Given the description of an element on the screen output the (x, y) to click on. 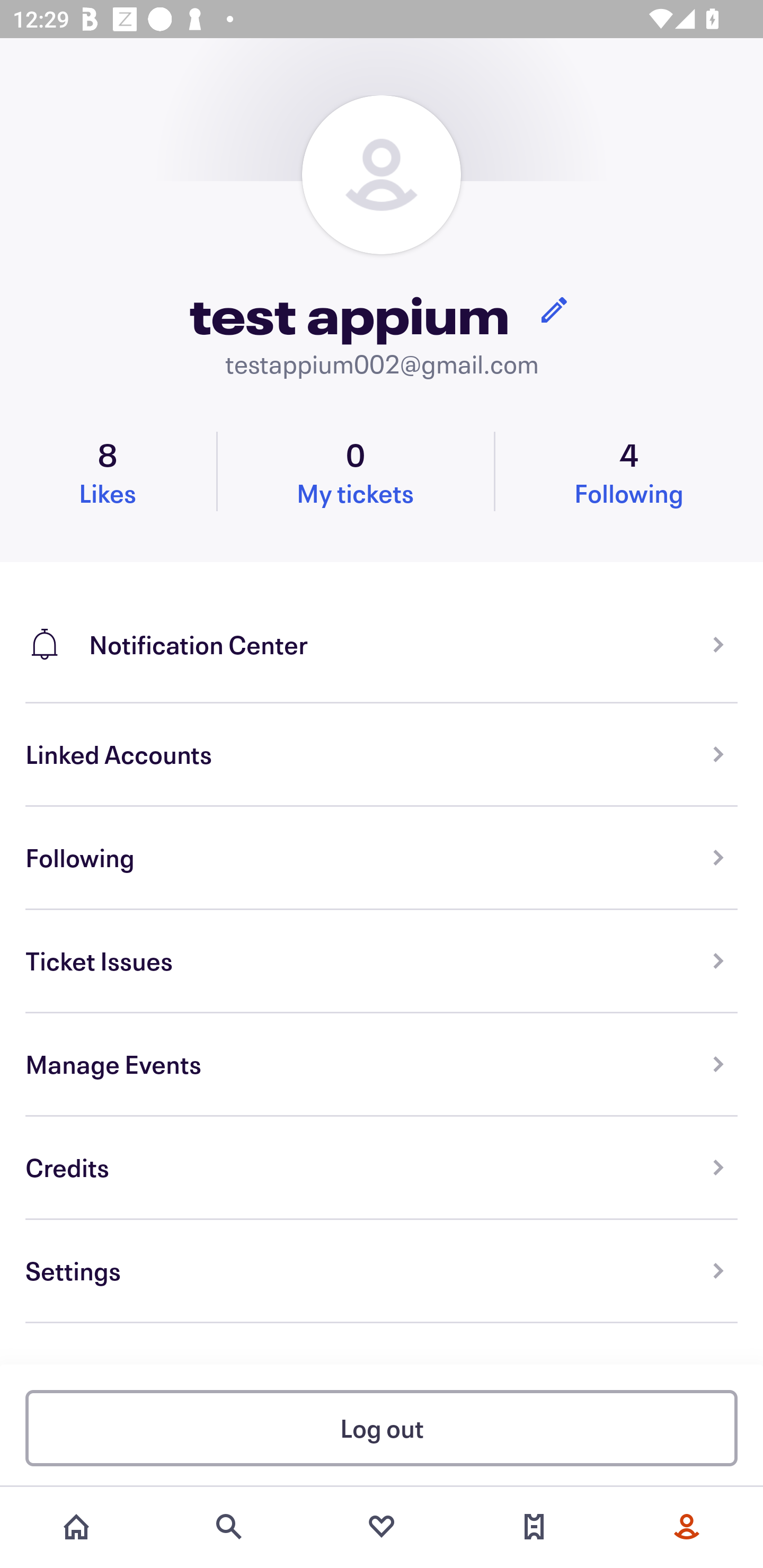
test appium testappium002@gmail.com (381, 238)
8 Likes (107, 470)
0 My tickets (355, 470)
4 Following (629, 470)
Notification Center (381, 632)
Linked Accounts (381, 755)
Following (381, 858)
Ticket Issues (381, 960)
Manage Events (381, 1064)
Credits (381, 1167)
Settings (381, 1271)
Log out (381, 1427)
Home (76, 1526)
Search events (228, 1526)
Favorites (381, 1526)
Tickets (533, 1526)
More (686, 1526)
